Given the description of an element on the screen output the (x, y) to click on. 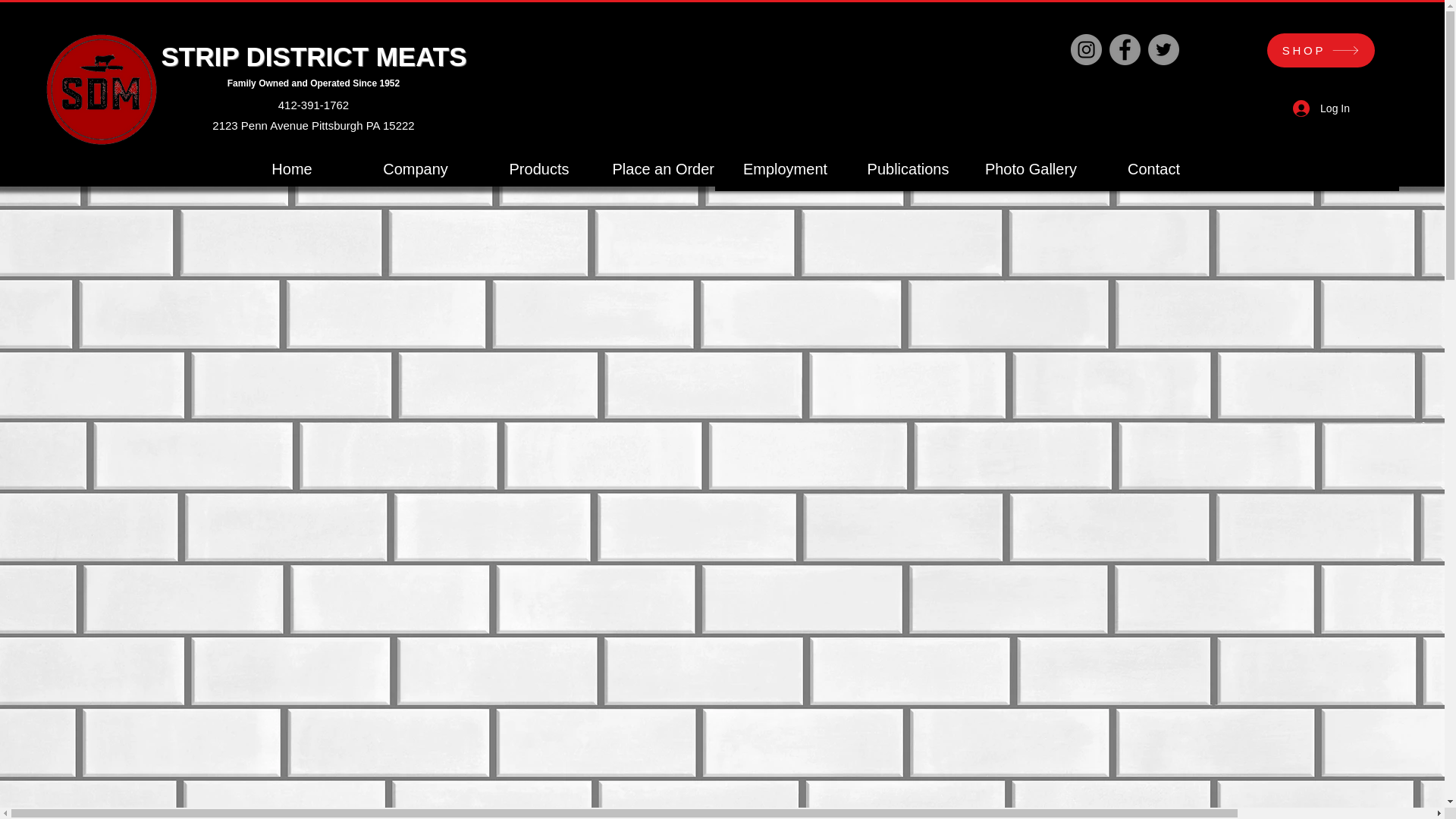
SHOP (1320, 50)
Employment (784, 169)
Log In (1320, 108)
Photo Gallery (1030, 169)
Home (291, 169)
STRIP DISTRICT MEATS (312, 56)
